Given the description of an element on the screen output the (x, y) to click on. 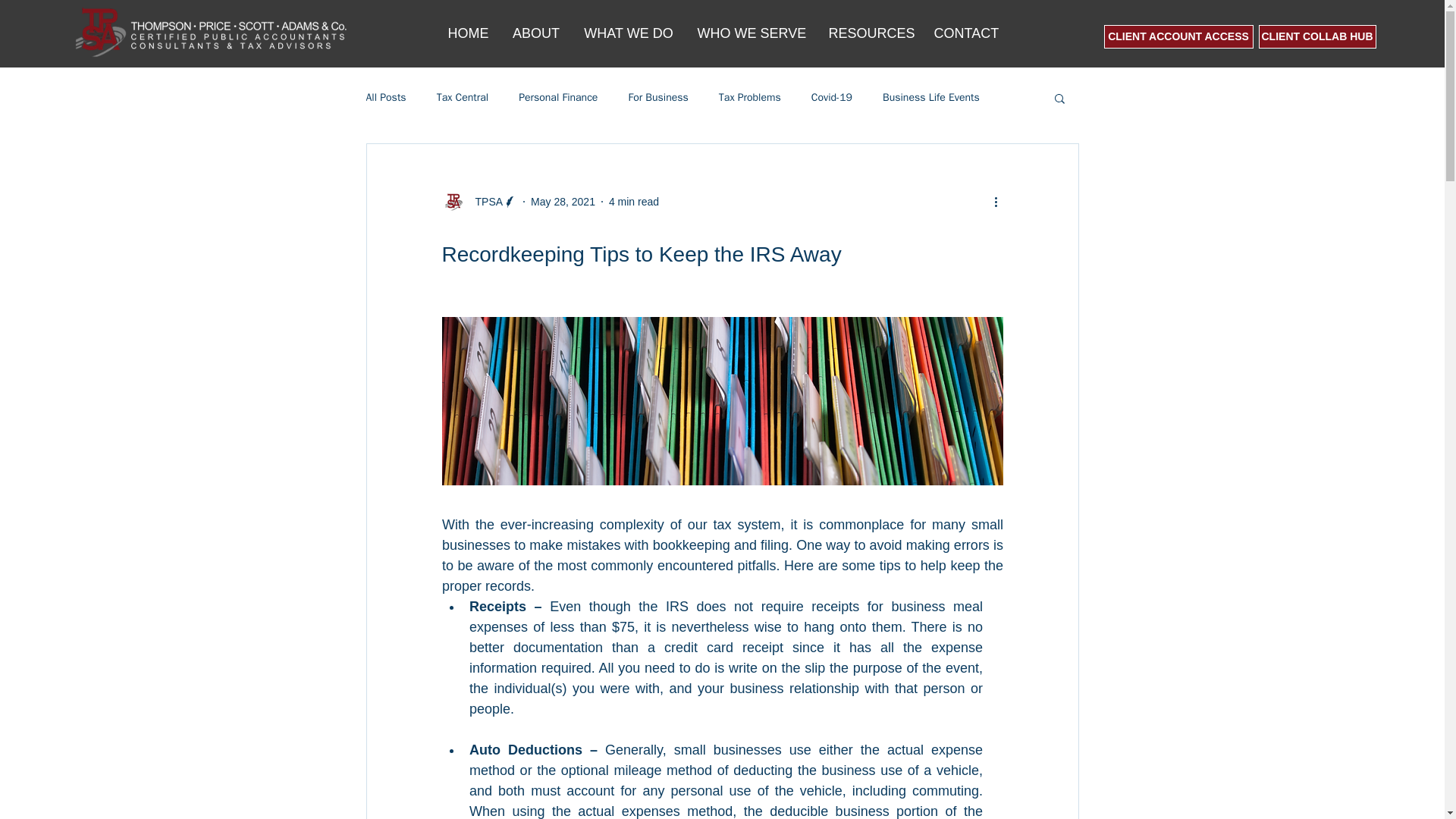
ABOUT (536, 33)
TPSA (483, 201)
Personal Finance (557, 97)
Tax Problems (749, 97)
CLIENT COLLAB HUB (1317, 36)
WHAT WE DO (628, 33)
CLIENT ACCOUNT ACCESS (1178, 36)
Covid-19 (830, 97)
CONTACT (965, 33)
All Posts (385, 97)
Business Life Events (930, 97)
Tax Central (462, 97)
4 min read (633, 201)
May 28, 2021 (563, 201)
TPSA (478, 201)
